Given the description of an element on the screen output the (x, y) to click on. 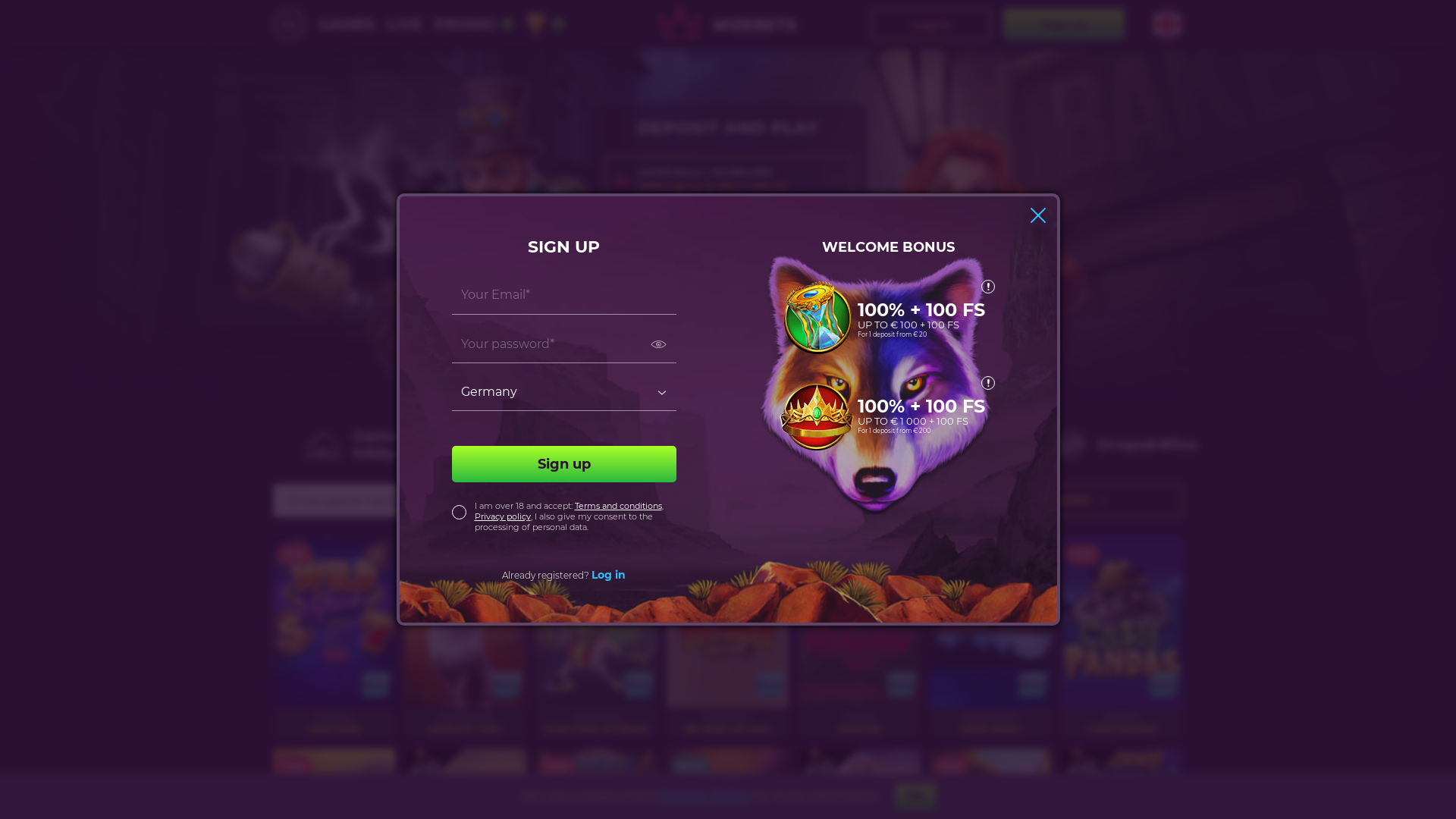
GAMES Element type: text (346, 24)
Sign up Element type: text (563, 463)
Deposit Element type: text (727, 273)
Ok Element type: text (914, 796)
Privacy Policy Element type: text (704, 795)
LIVE Element type: text (404, 24)
Close Element type: text (1037, 215)
6 Element type: text (544, 23)
Sign up Element type: text (1063, 24)
Log in Element type: text (930, 24)
Privacy policy Element type: text (502, 516)
PROVIDERS Element type: text (1056, 500)
Terms and conditions Element type: text (618, 505)
Language Element type: hover (1167, 24)
PROMO
5 Element type: text (473, 24)
Log in Element type: text (608, 574)
Menu Element type: hover (288, 24)
